Given the description of an element on the screen output the (x, y) to click on. 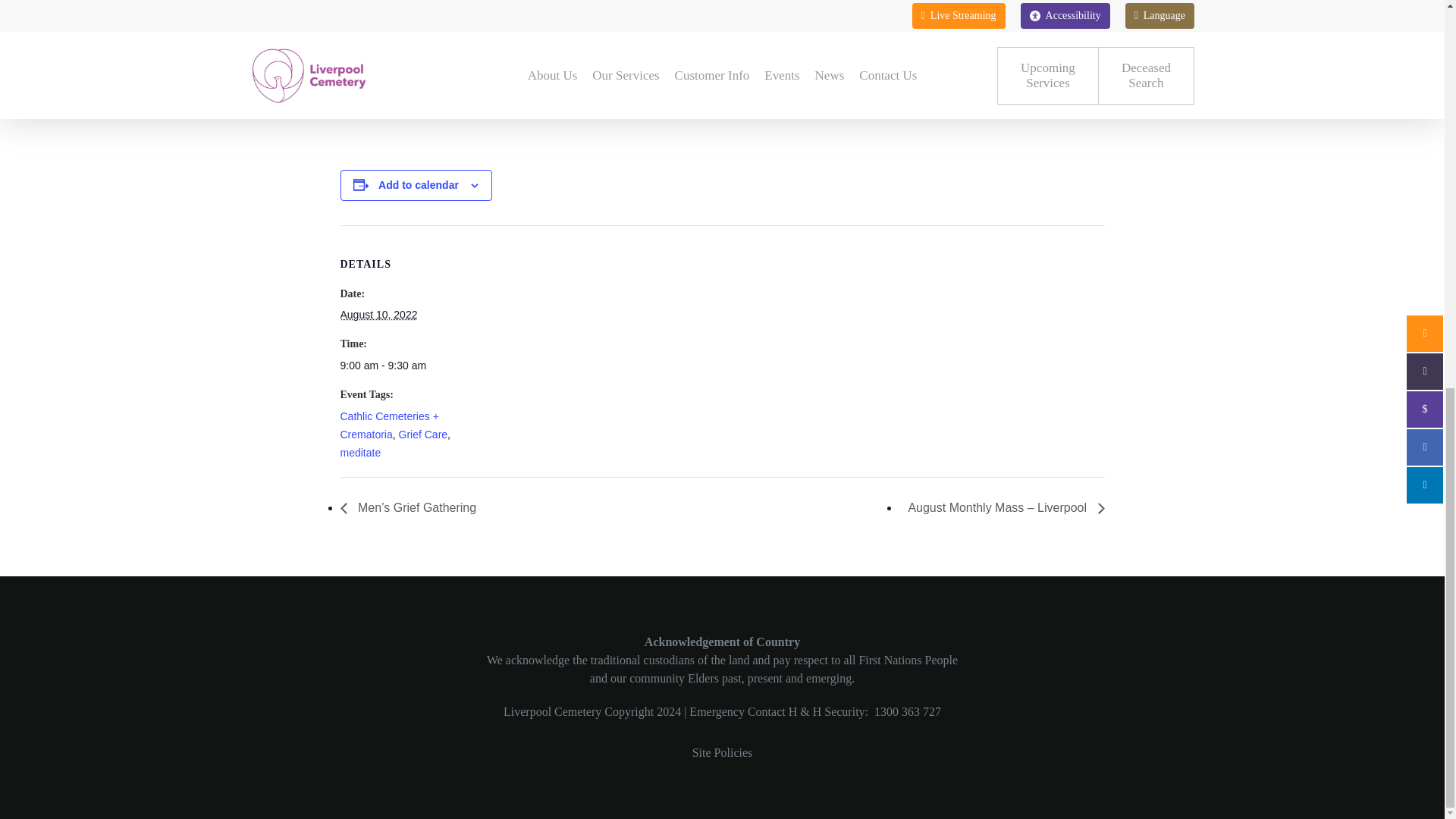
2022-08-10 (403, 365)
2022-08-10 (377, 314)
